Given the description of an element on the screen output the (x, y) to click on. 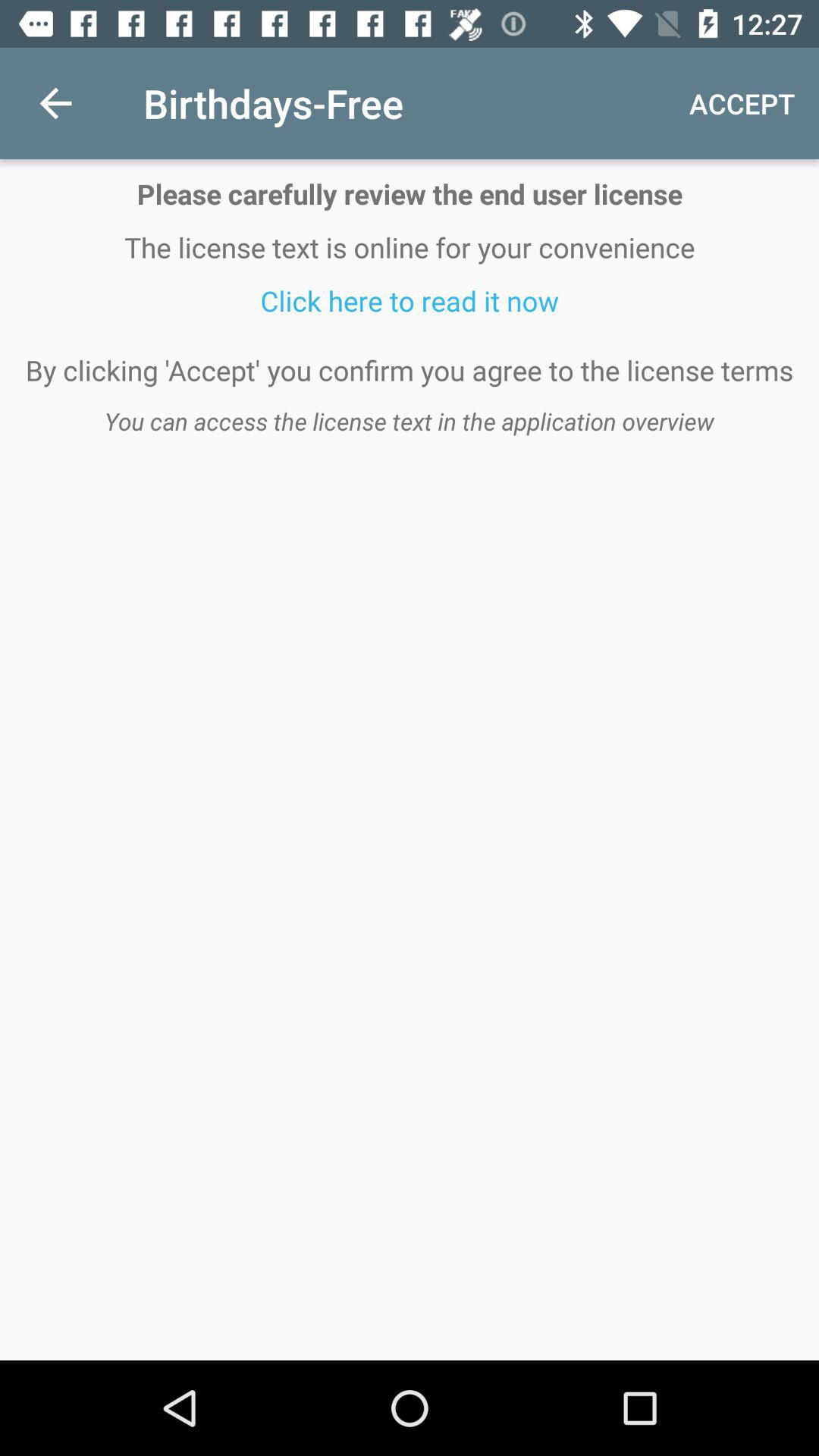
tap icon next to birthdays-free item (55, 103)
